Given the description of an element on the screen output the (x, y) to click on. 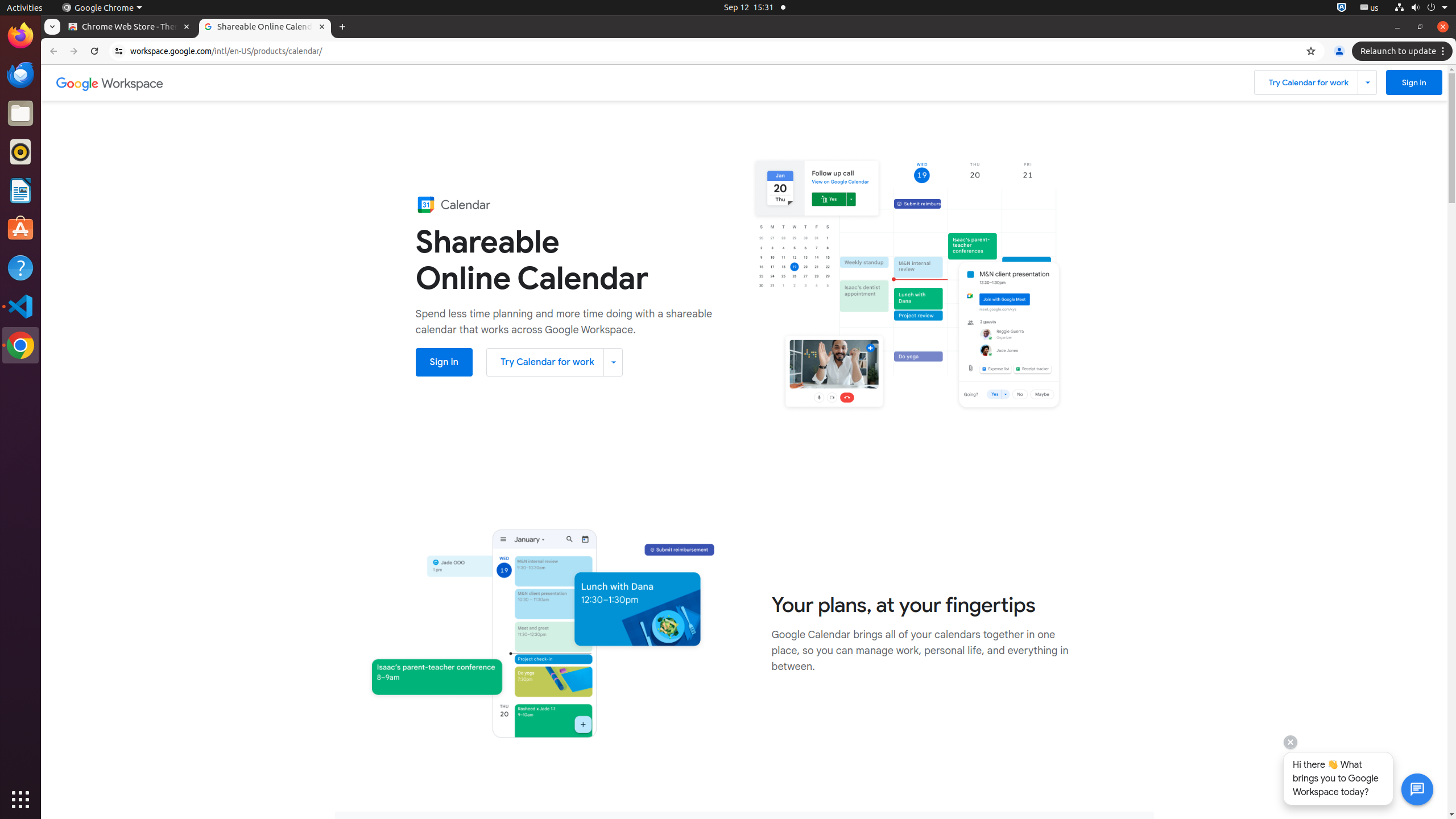
Help Element type: push-button (20, 267)
System Element type: menu (1420, 7)
Firefox Web Browser Element type: push-button (20, 35)
Rhythmbox Element type: push-button (20, 151)
Ubuntu Software Element type: push-button (20, 229)
